Given the description of an element on the screen output the (x, y) to click on. 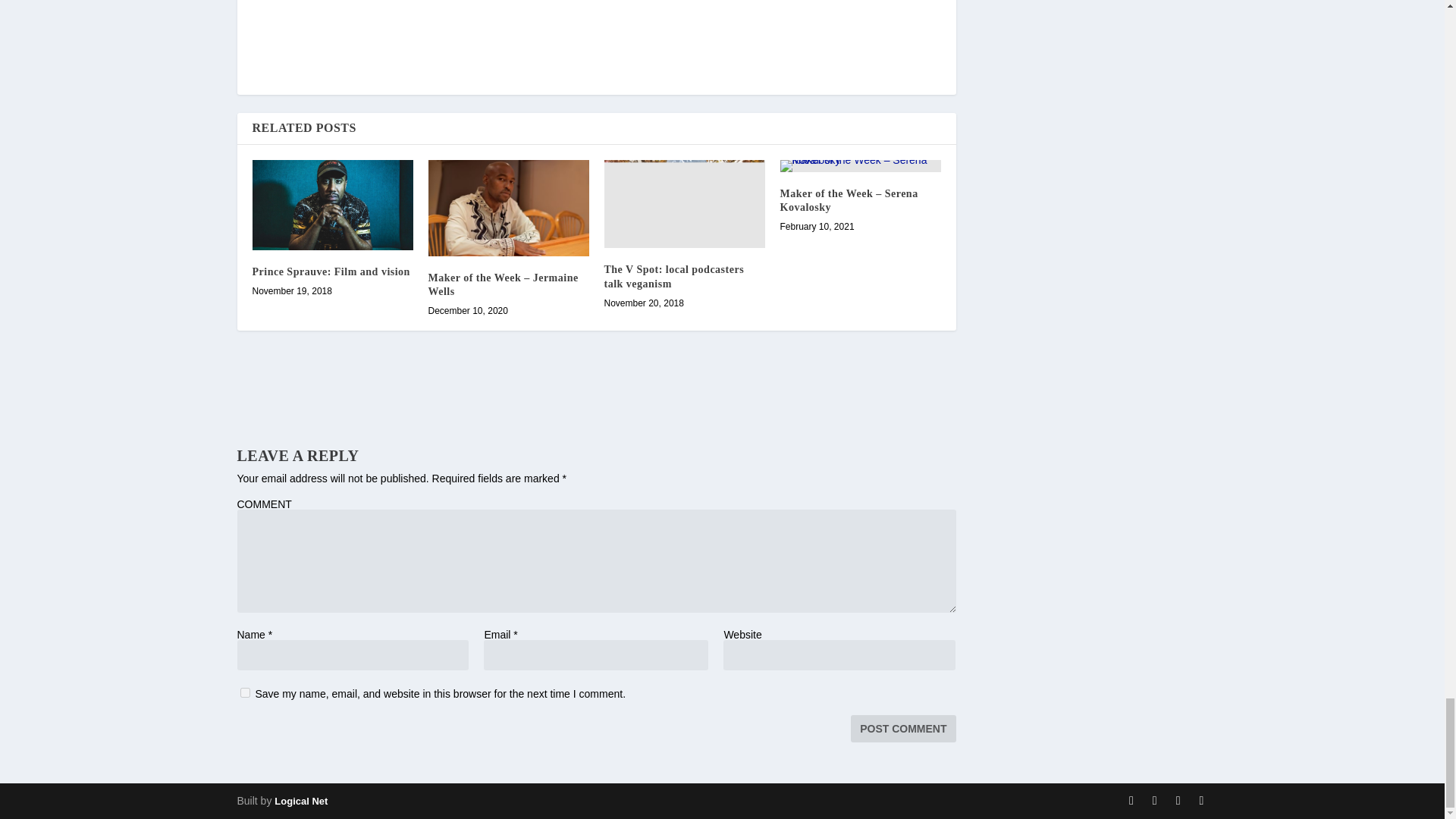
Post Comment (902, 728)
yes (244, 692)
The V Spot: local podcasters talk veganism (684, 203)
The Logic behind your Network (301, 800)
Prince Sprauve: Film and vision (331, 204)
